Given the description of an element on the screen output the (x, y) to click on. 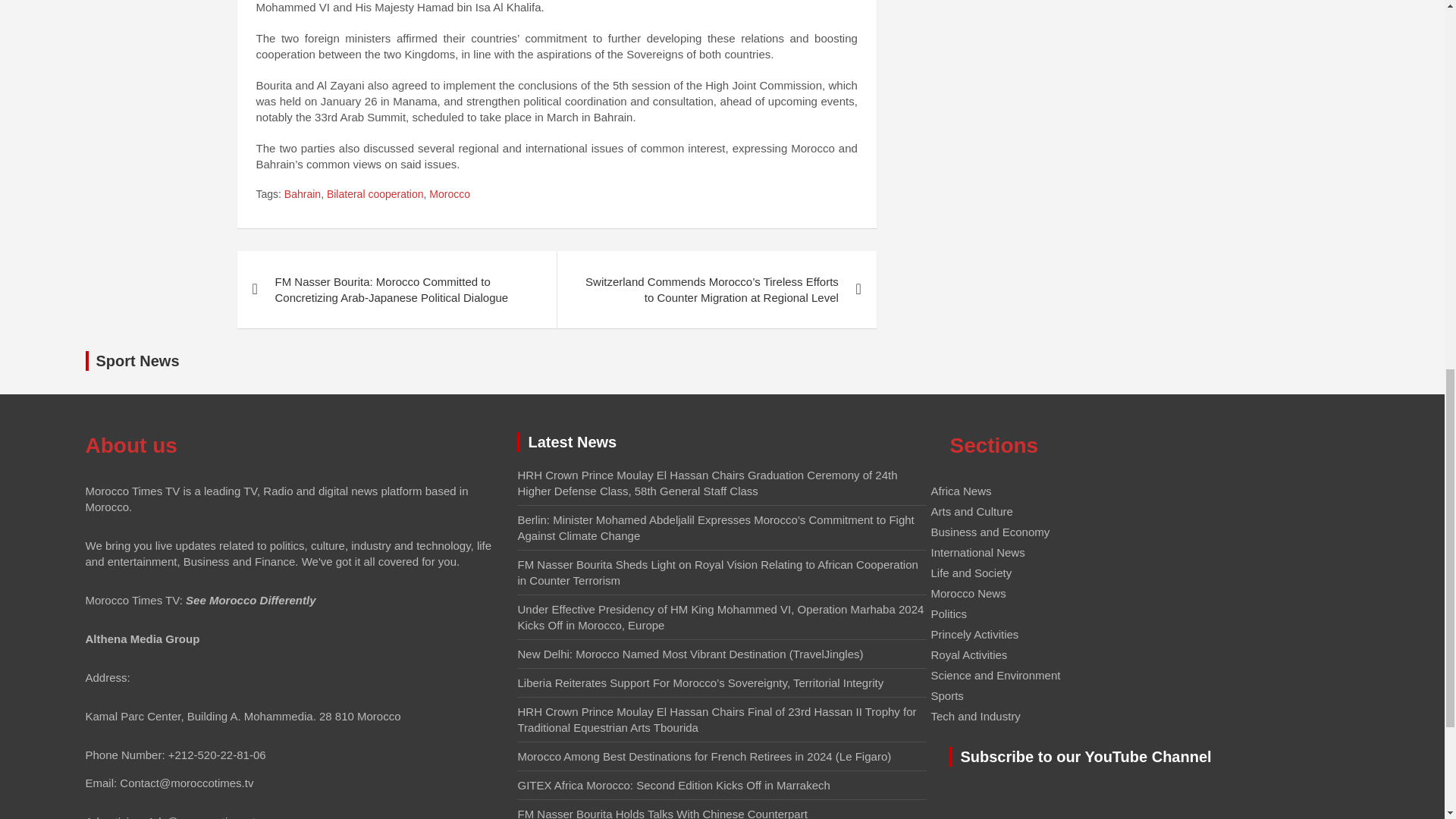
Bilateral cooperation (374, 194)
Morocco (449, 194)
Bahrain (301, 194)
